Given the description of an element on the screen output the (x, y) to click on. 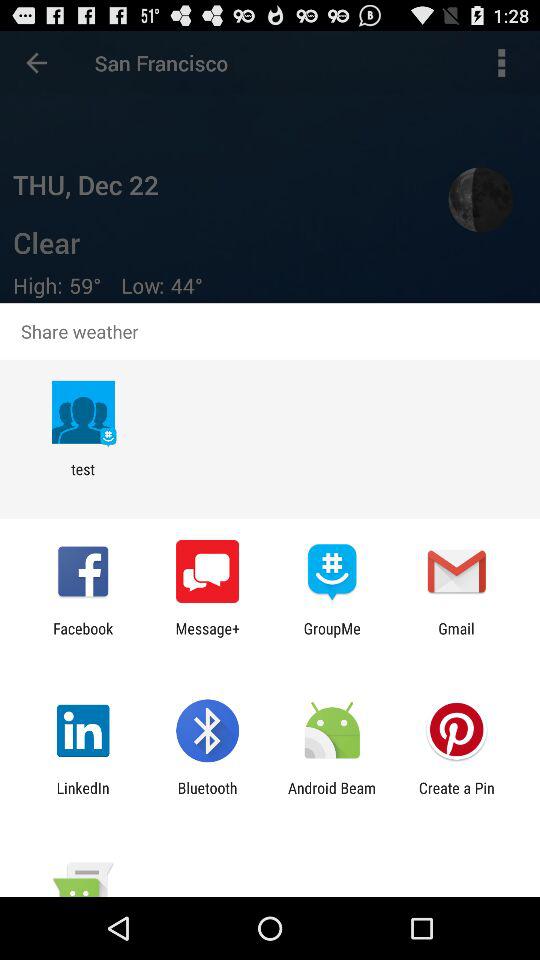
open the item to the left of the bluetooth item (82, 796)
